Given the description of an element on the screen output the (x, y) to click on. 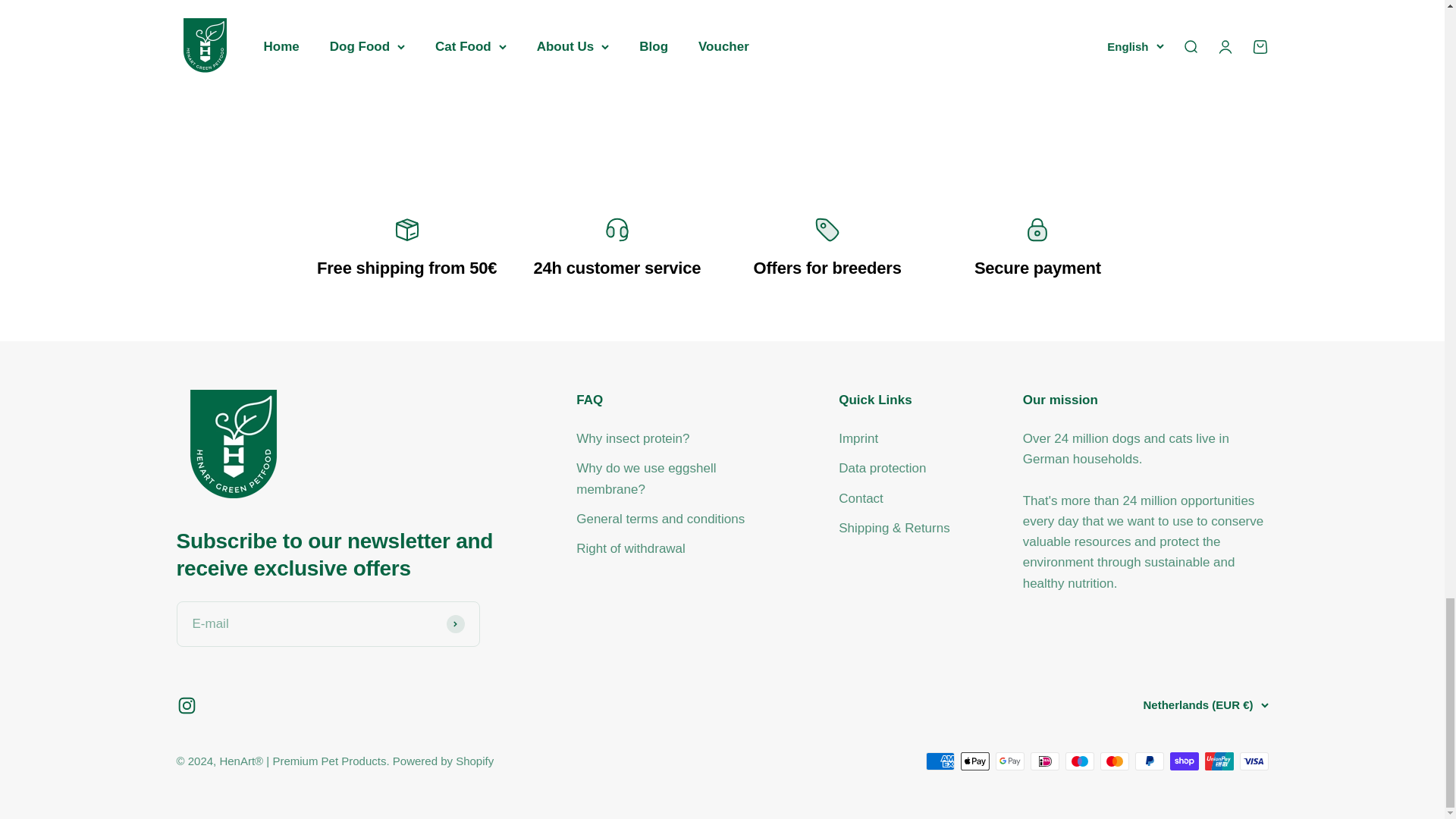
Contact (550, 65)
